Given the description of an element on the screen output the (x, y) to click on. 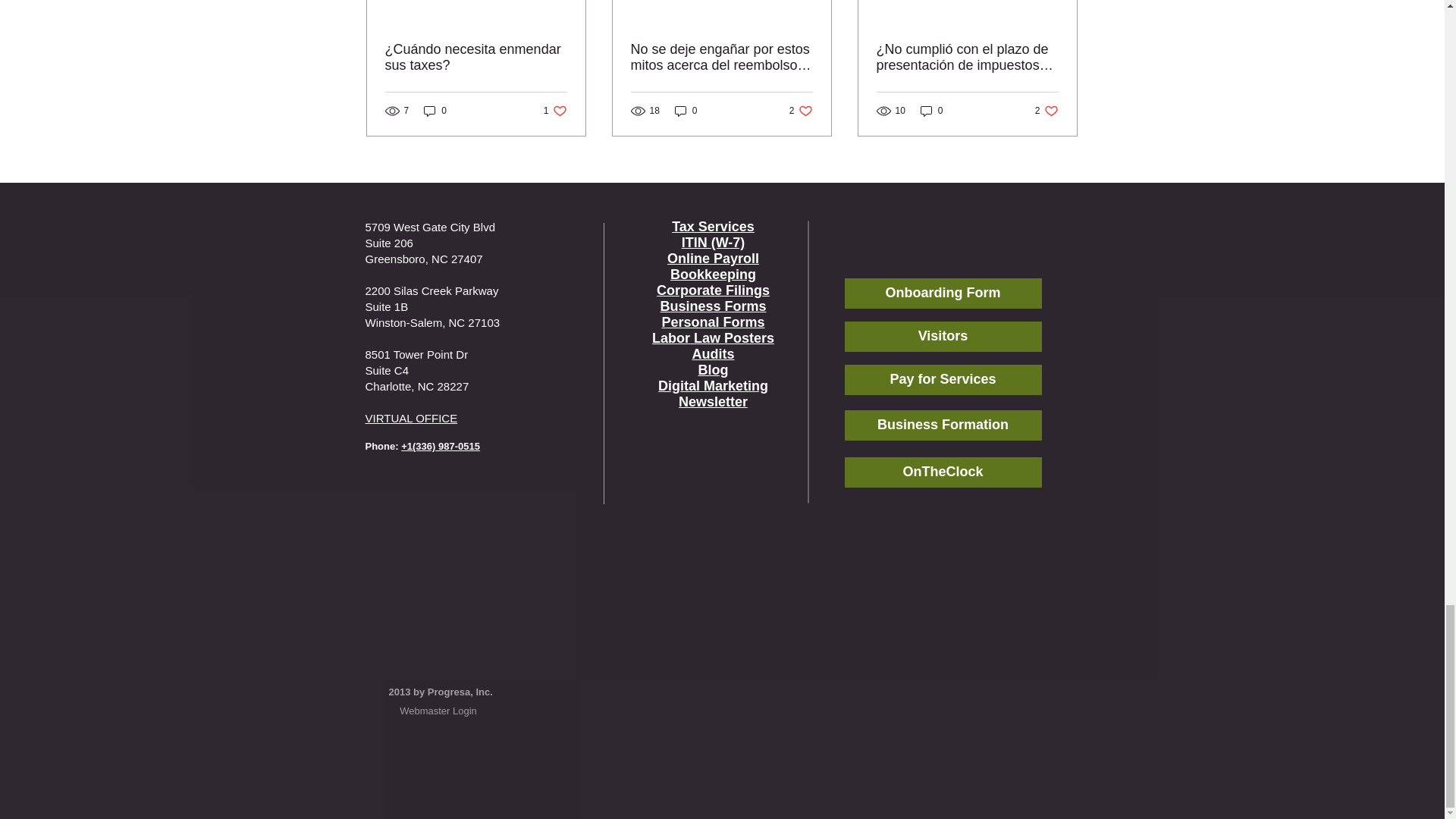
0 (435, 110)
0 (555, 110)
